Given the description of an element on the screen output the (x, y) to click on. 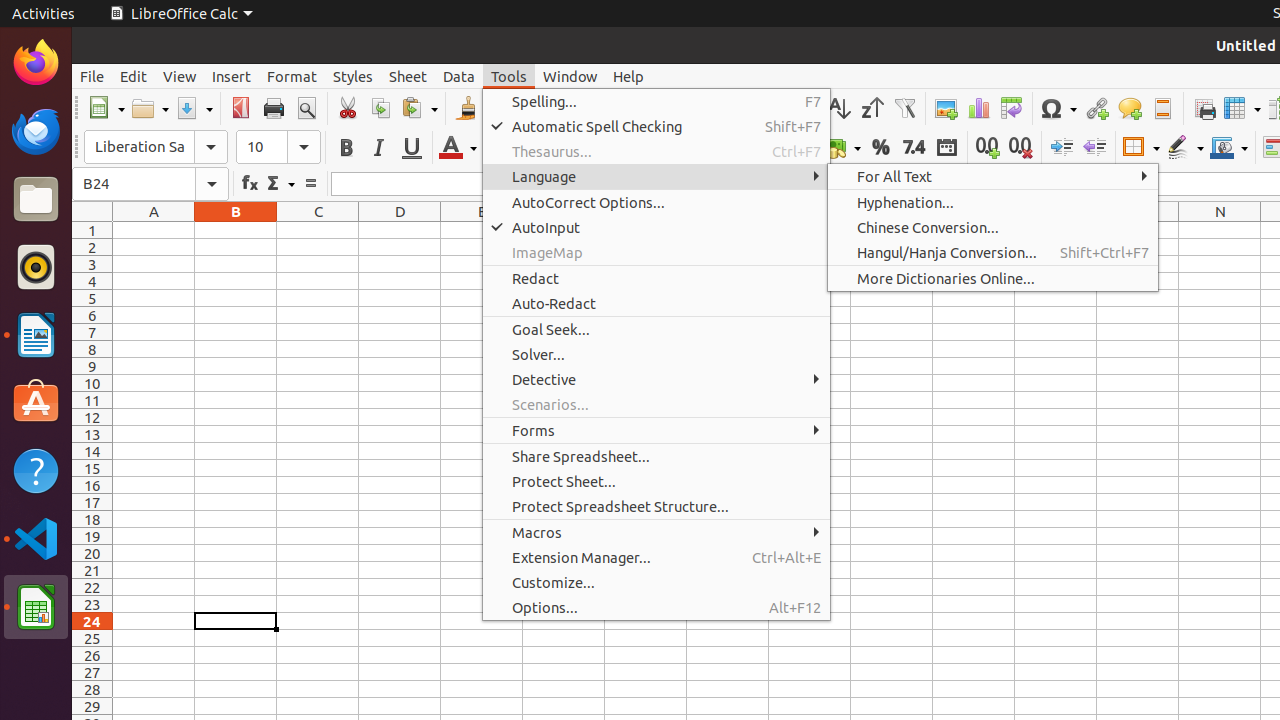
A1 Element type: table-cell (154, 230)
Clone Element type: push-button (465, 108)
Solver... Element type: menu-item (656, 354)
Edit Element type: menu (133, 76)
Formula Element type: push-button (310, 183)
